Given the description of an element on the screen output the (x, y) to click on. 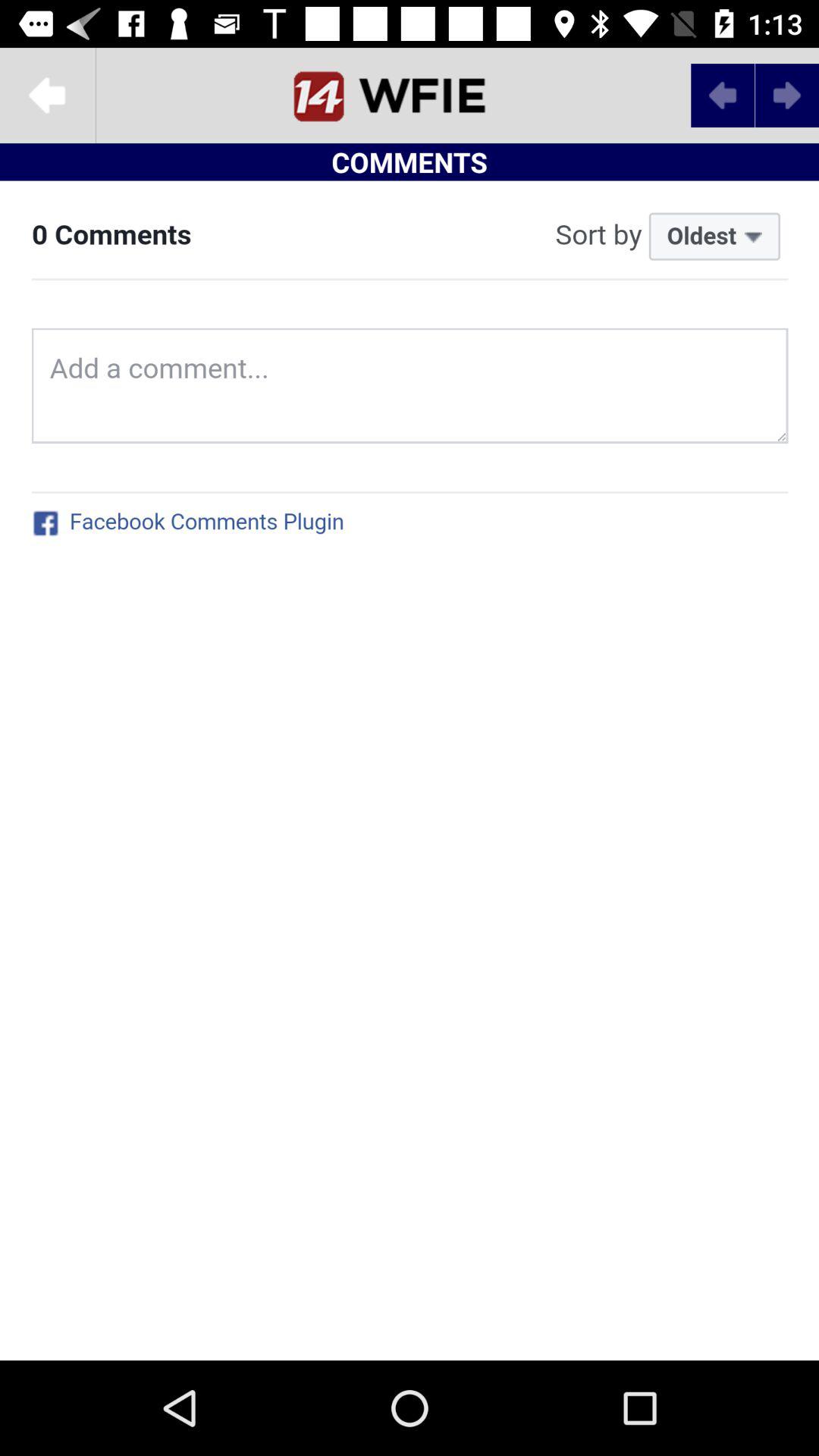
go home (409, 95)
